Given the description of an element on the screen output the (x, y) to click on. 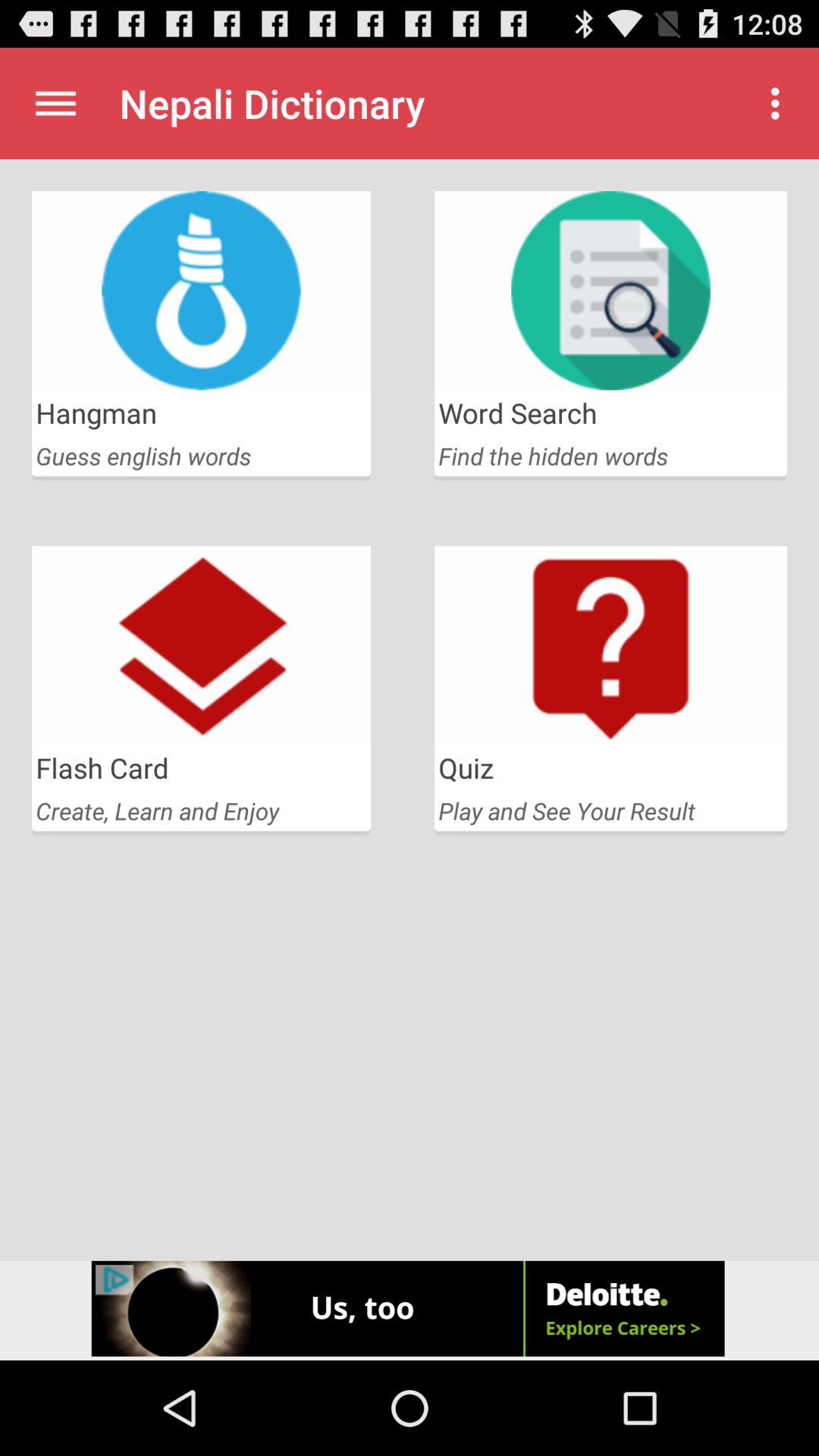
click on the image above quiz (610, 645)
click on the second image from first row (610, 290)
